Given the description of an element on the screen output the (x, y) to click on. 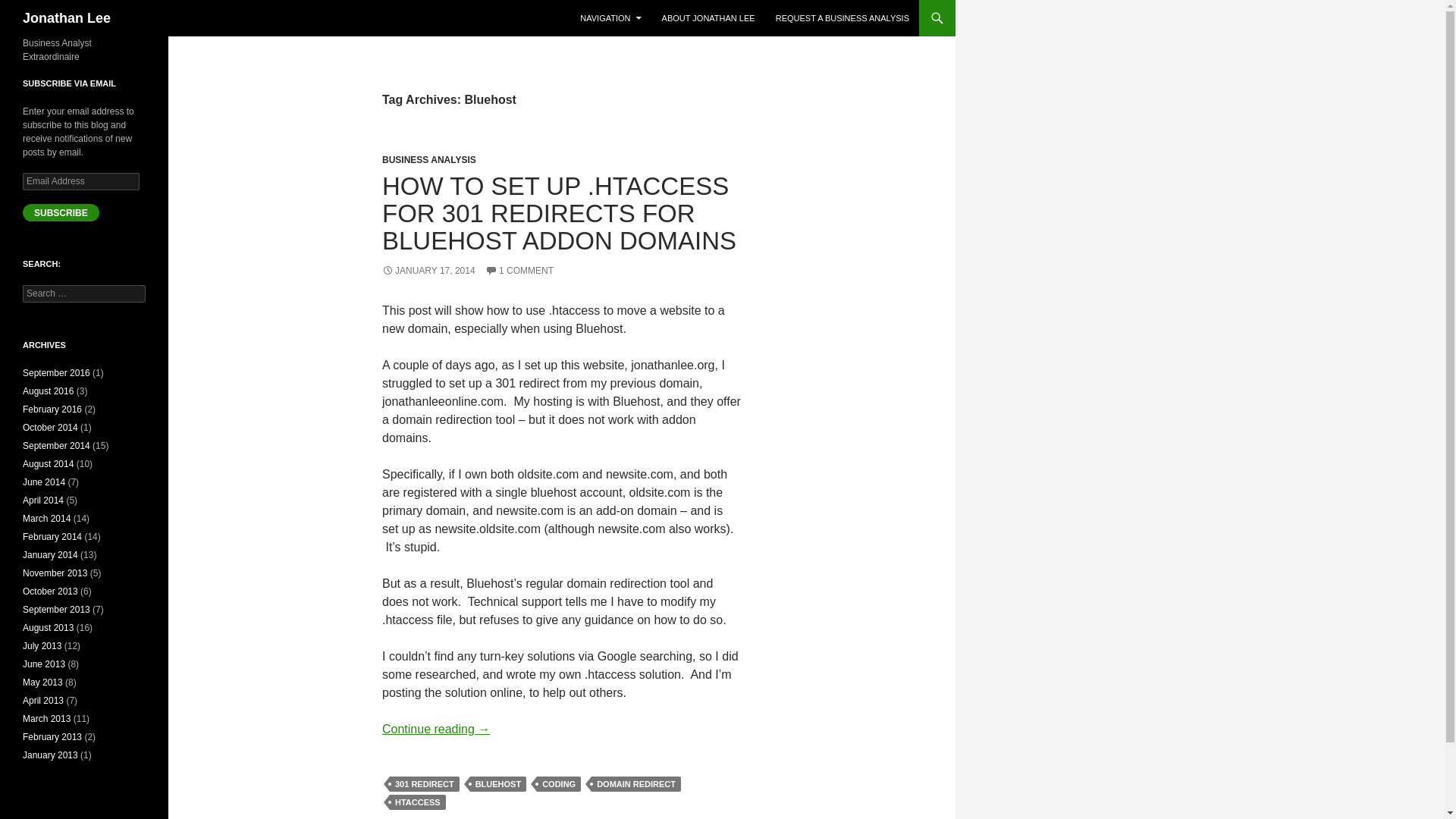
November 2013 (55, 573)
JANUARY 17, 2014 (428, 270)
March 2014 (46, 518)
ABOUT JONATHAN LEE (708, 18)
BLUEHOST (498, 783)
April 2014 (43, 500)
301 REDIRECT (425, 783)
October 2014 (50, 427)
Search (30, 8)
October 2013 (50, 591)
NAVIGATION (609, 18)
DOMAIN REDIRECT (636, 783)
REQUEST A BUSINESS ANALYSIS (842, 18)
February 2016 (52, 409)
